Given the description of an element on the screen output the (x, y) to click on. 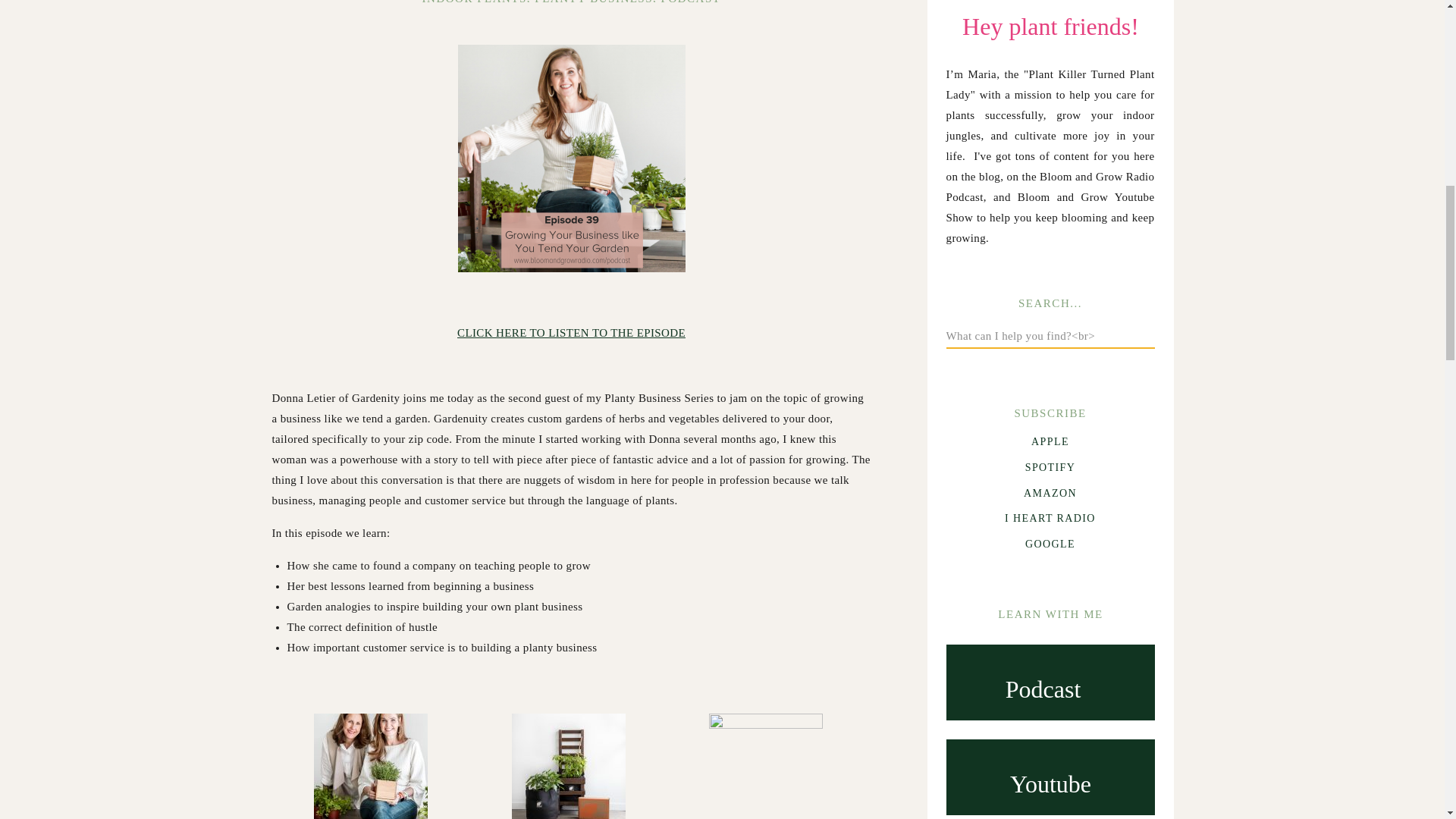
AMAZON (1050, 492)
PODCAST (690, 2)
Podcast (1042, 684)
CLICK HERE TO LISTEN TO THE EPISODE (571, 332)
INDOOR PLANTS (474, 2)
I HEART RADIO (1050, 516)
APPLE (1050, 440)
PLANTY BUSINESS (593, 2)
SPOTIFY (1050, 466)
GOOGLE (1050, 542)
